Given the description of an element on the screen output the (x, y) to click on. 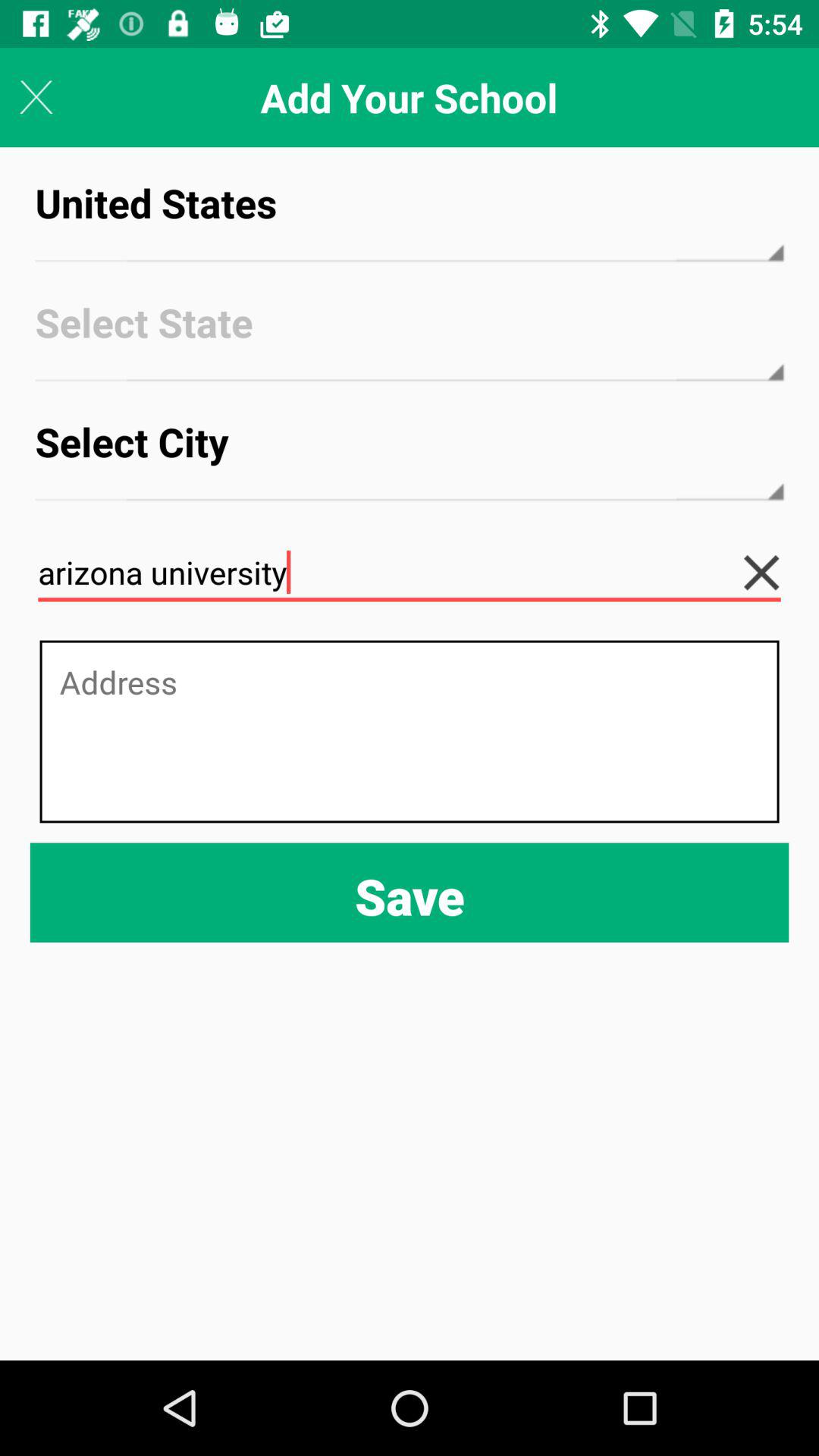
open icon above select city icon (409, 336)
